Given the description of an element on the screen output the (x, y) to click on. 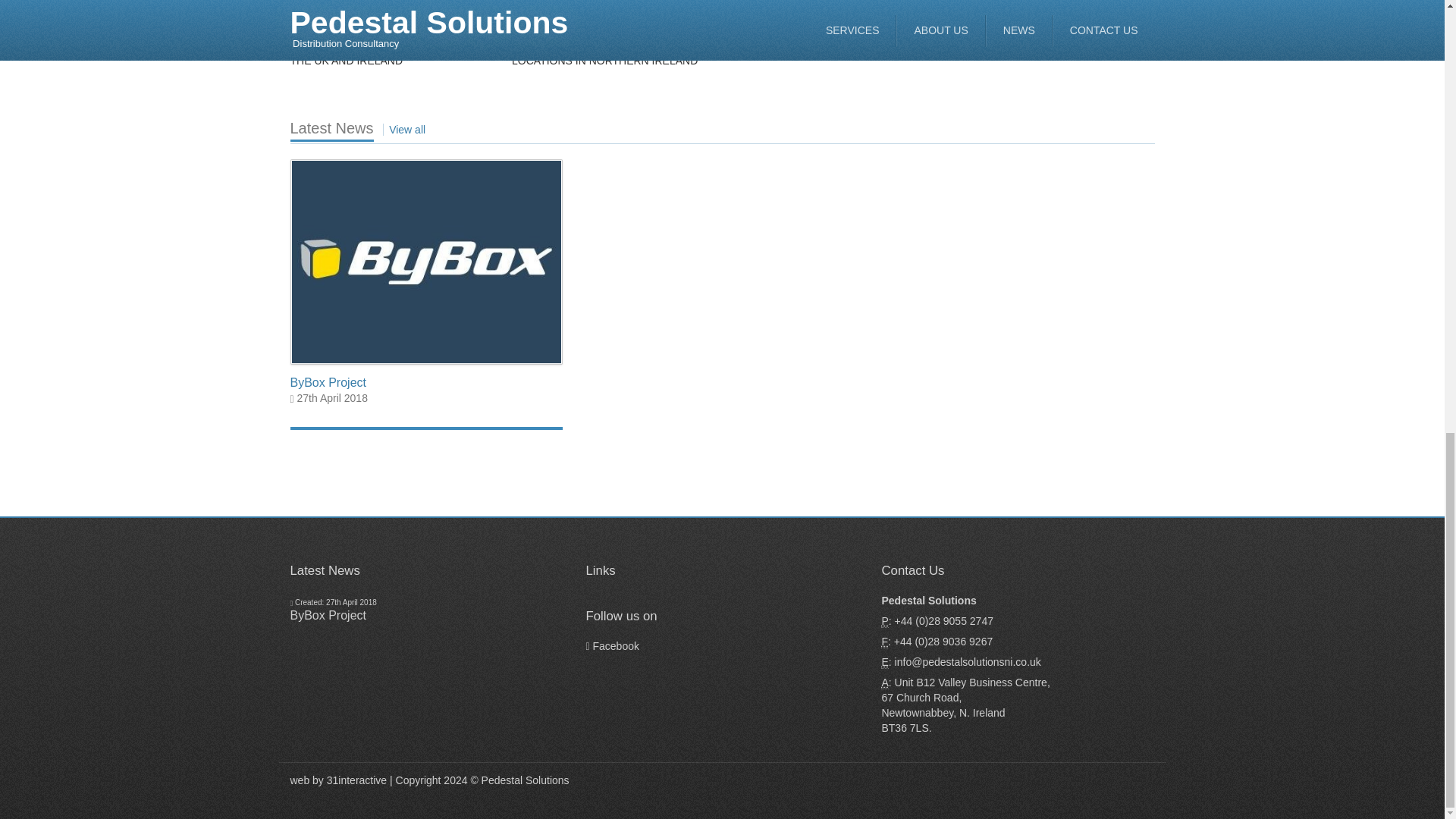
Warehousing (584, 5)
ByBox Project (327, 615)
Courier Service (368, 5)
ByBox Project (327, 382)
Technical Courier Work (832, 5)
Facebook (612, 645)
View all (406, 129)
31interactive (356, 779)
